Given the description of an element on the screen output the (x, y) to click on. 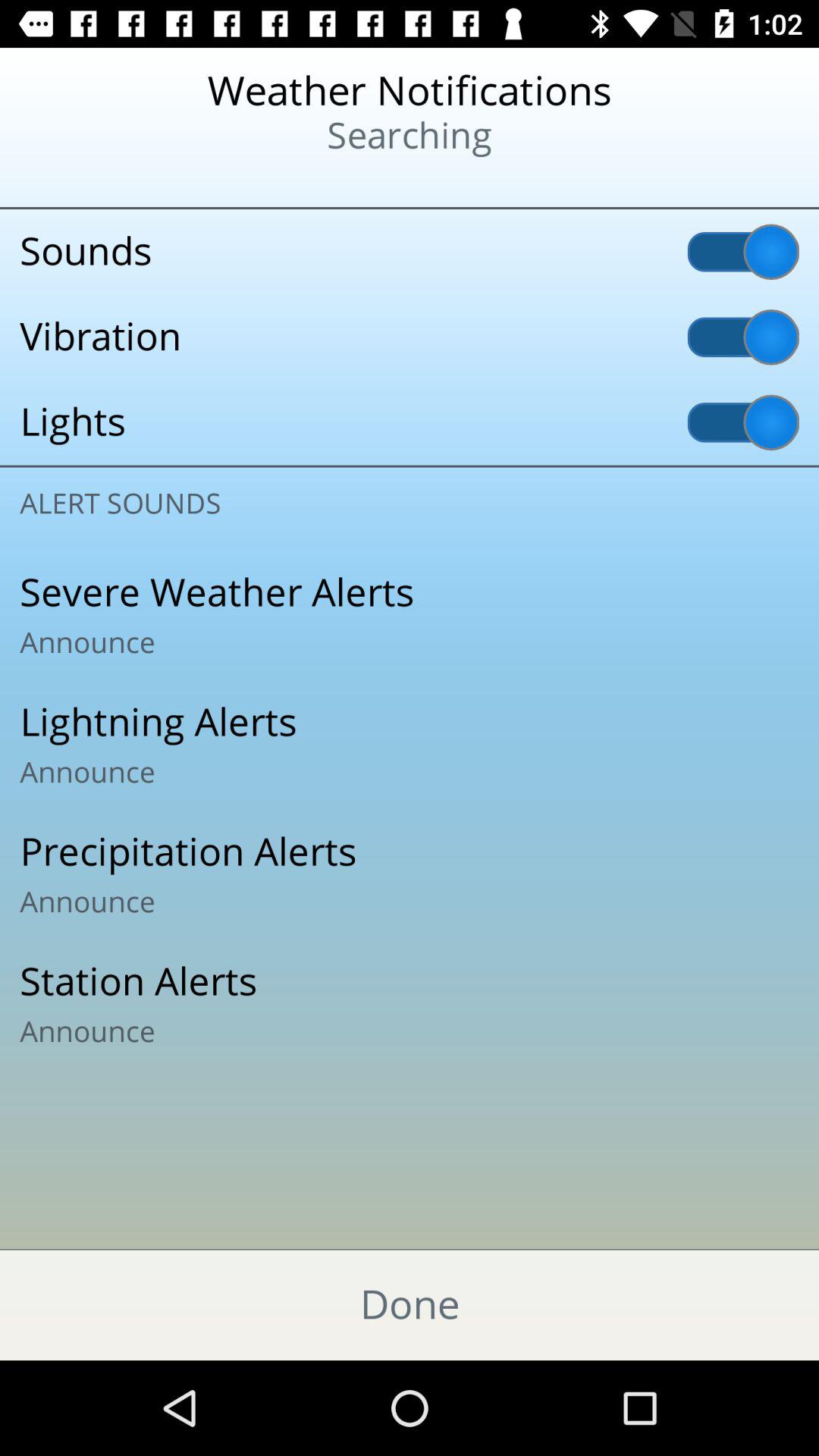
click severe weather alerts item (409, 615)
